Given the description of an element on the screen output the (x, y) to click on. 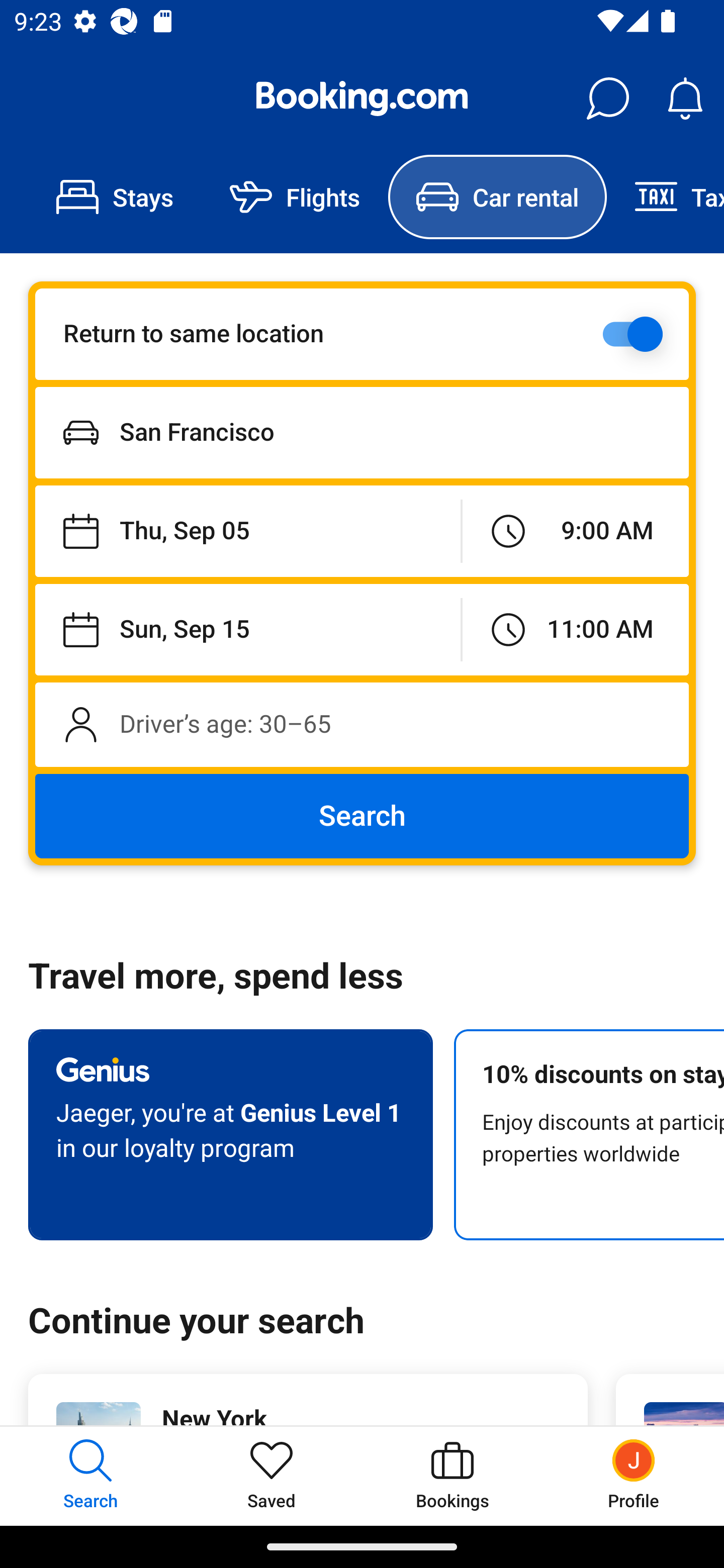
Messages (607, 98)
Notifications (685, 98)
Stays (114, 197)
Flights (294, 197)
Car rental (497, 197)
Taxi (665, 197)
Pick-up location: Text(name=San Francisco) (361, 432)
Pick-up date: 2024-09-05 (247, 531)
Pick-up time: 09:00:00.000 (575, 531)
Drop-off date: 2024-09-15 (247, 629)
Drop-off time: 11:00:00.000 (575, 629)
Enter the driver's age (361, 724)
Search (361, 815)
Saved (271, 1475)
Bookings (452, 1475)
Profile (633, 1475)
